Given the description of an element on the screen output the (x, y) to click on. 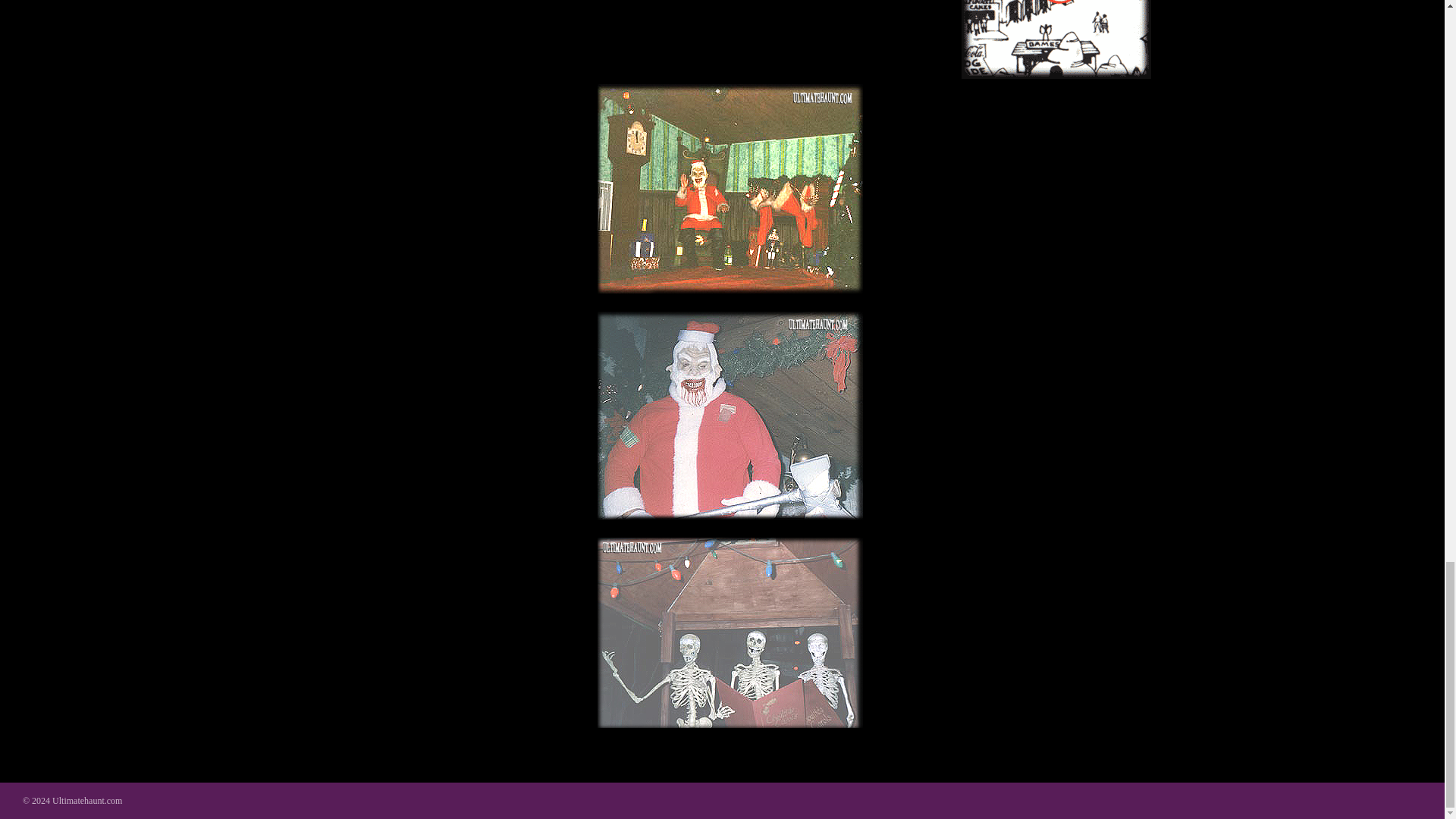
scary santy (729, 415)
Hi Santy (729, 188)
ghoul tide carols (729, 632)
